Given the description of an element on the screen output the (x, y) to click on. 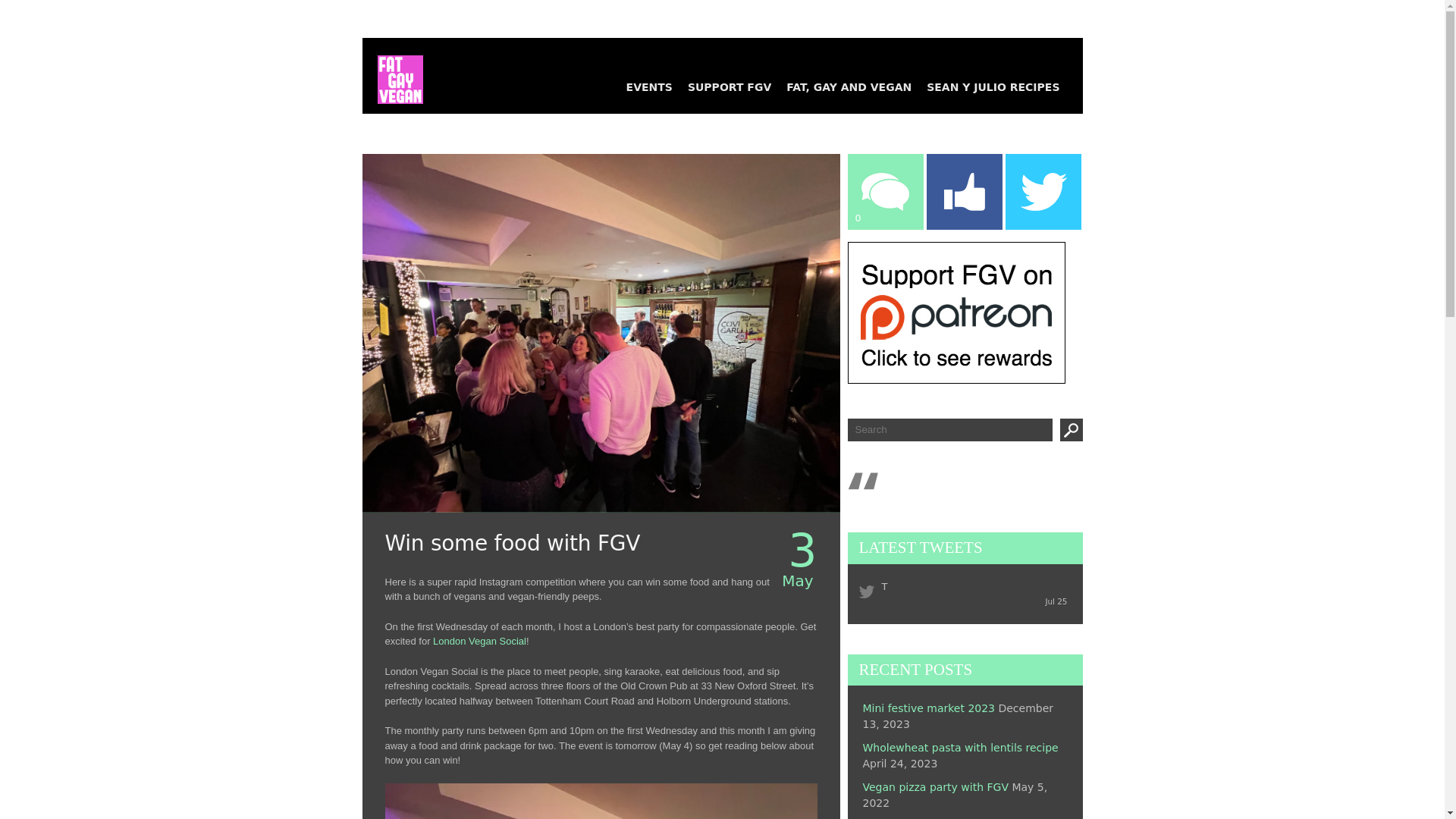
SEAN Y JULIO RECIPES (992, 86)
FAT, GAY AND VEGAN (848, 86)
Tweet (1035, 85)
0 (884, 92)
Reply (884, 119)
London Vegan Social (478, 641)
Fat Gay Vegan (392, 70)
SUPPORT FGV (728, 86)
EVENTS (648, 86)
06:56 PM Jul 25 GMT 0 (1056, 601)
